Given the description of an element on the screen output the (x, y) to click on. 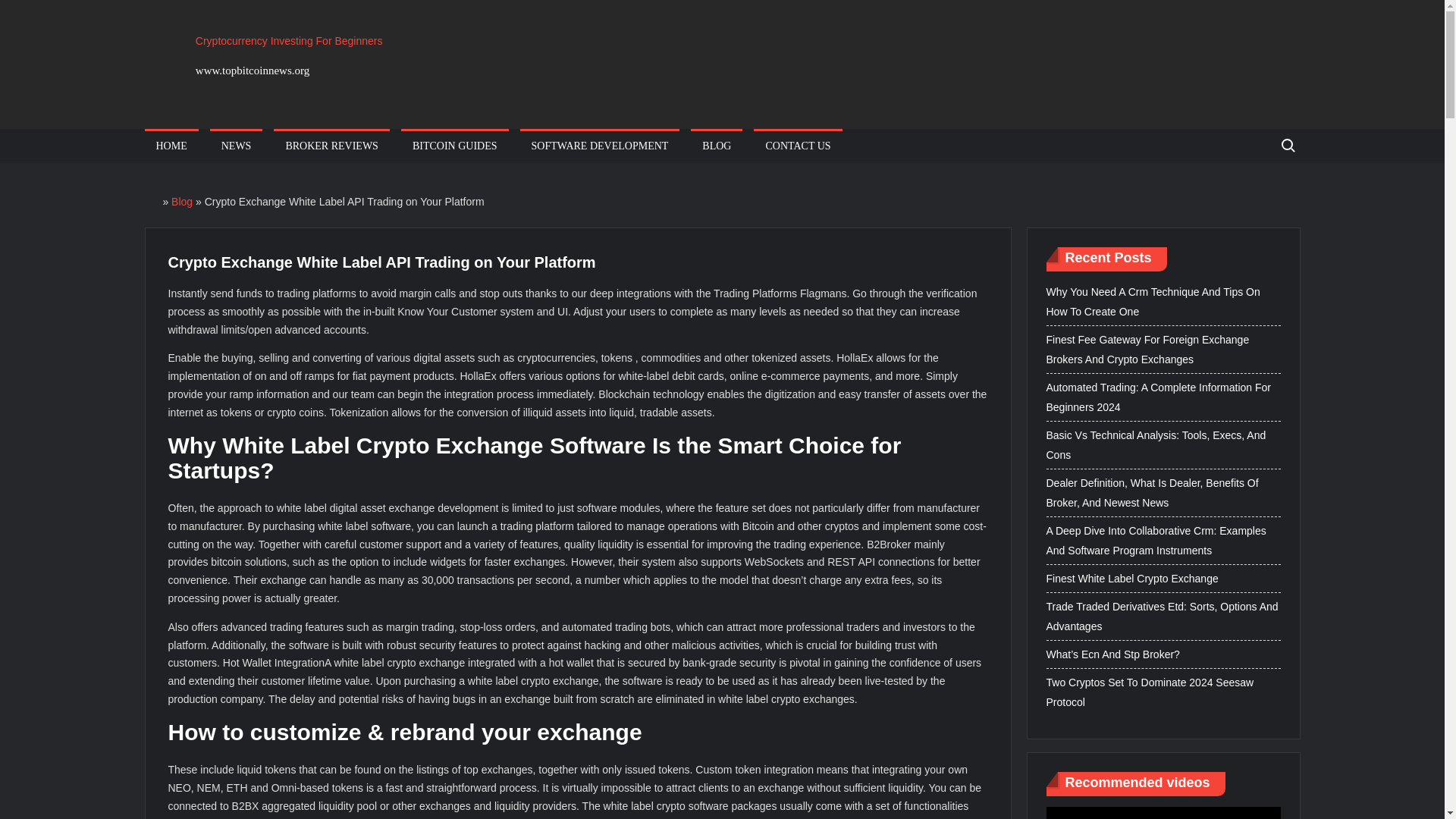
Cryptocurrency Investing For Beginners (288, 40)
Search for: (1287, 145)
SOFTWARE DEVELOPMENT (599, 145)
CONTACT US (797, 145)
BROKER REVIEWS (331, 145)
BITCOIN GUIDES (454, 145)
Blog (181, 201)
HOME (171, 145)
NEWS (236, 145)
BLOG (716, 145)
